Given the description of an element on the screen output the (x, y) to click on. 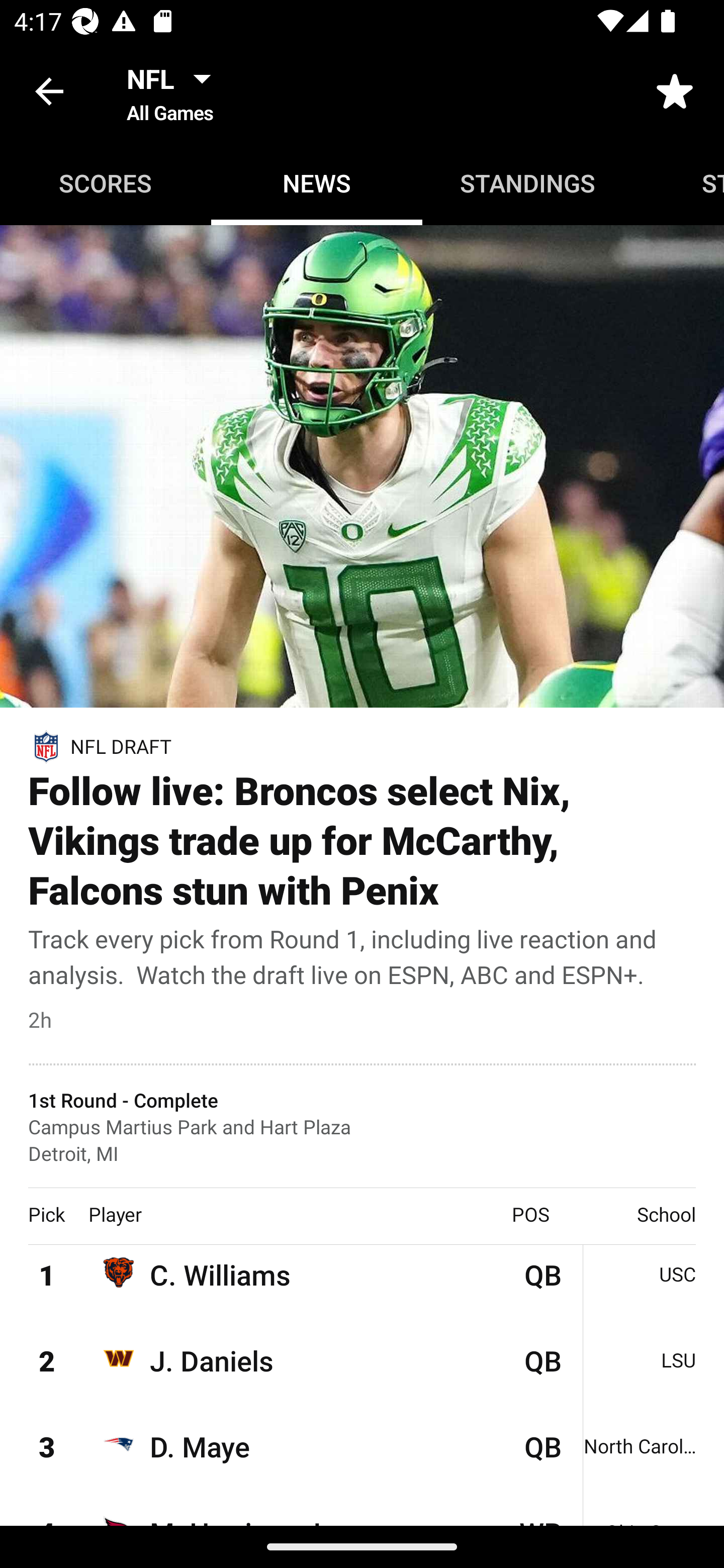
NFL All Games (174, 90)
Favorite toggle (674, 90)
Scores SCORES (105, 183)
Standings STANDINGS (527, 183)
